Given the description of an element on the screen output the (x, y) to click on. 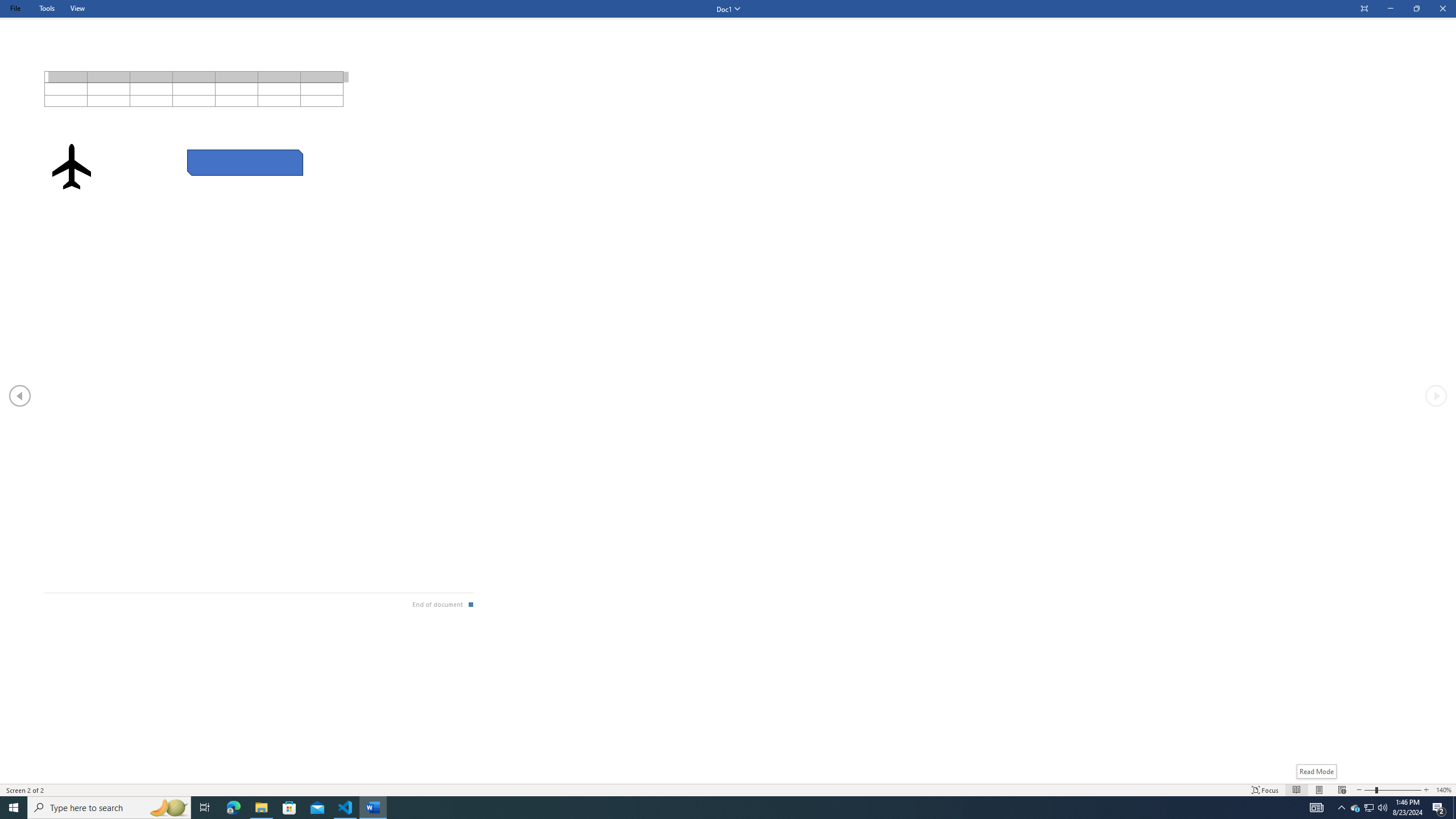
Tools (46, 8)
Rectangle: Diagonal Corners Snipped 2 (244, 162)
Auto-hide Reading Toolbar (1364, 9)
